Given the description of an element on the screen output the (x, y) to click on. 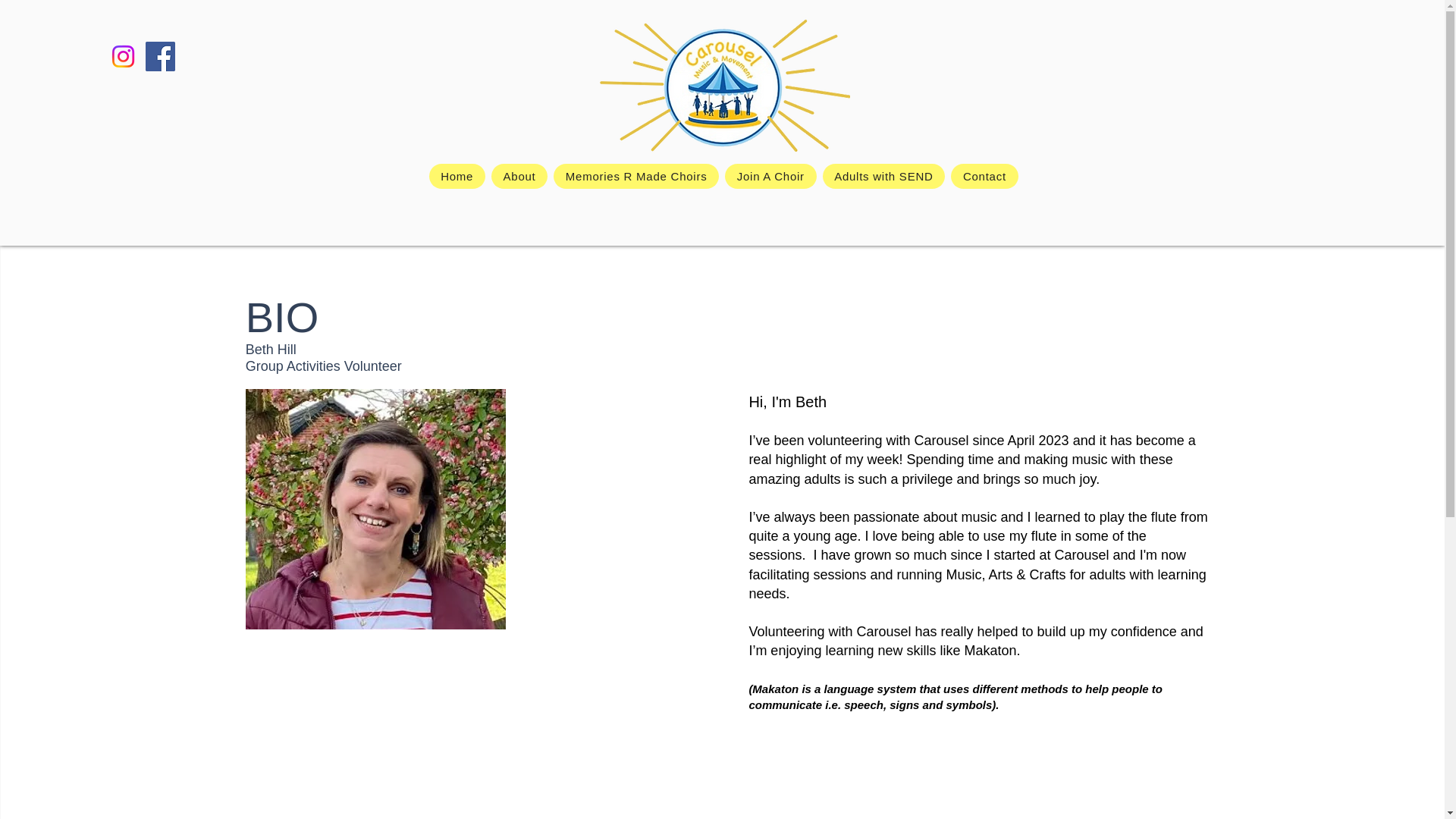
Memories R Made Choirs (636, 176)
About (519, 176)
Join A Choir (770, 176)
Contact (983, 176)
Home (456, 176)
Adults with SEND (883, 176)
